Given the description of an element on the screen output the (x, y) to click on. 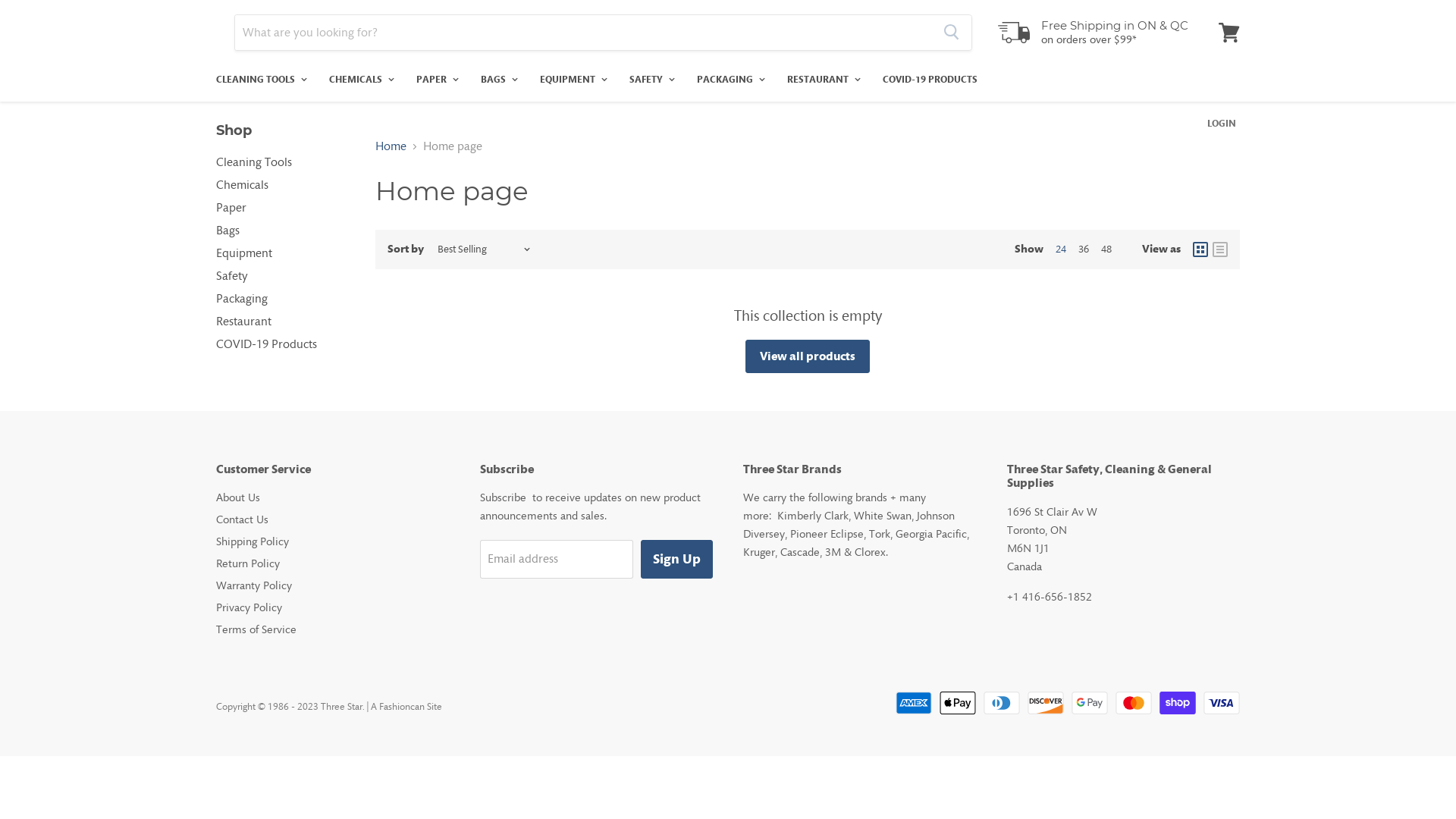
LOGIN Element type: text (1221, 123)
COVID-19 PRODUCTS Element type: text (929, 79)
Equipment Element type: text (244, 252)
48 Element type: text (1106, 248)
PACKAGING Element type: text (728, 79)
24 Element type: text (1060, 248)
RESTAURANT Element type: text (821, 79)
CLEANING TOOLS Element type: text (259, 79)
View all products Element type: text (807, 356)
Contact Us Element type: text (242, 519)
Cleaning Tools Element type: text (253, 161)
COVID-19 Products Element type: text (266, 343)
Packaging Element type: text (241, 298)
PAPER Element type: text (435, 79)
Warranty Policy Element type: text (253, 585)
Paper Element type: text (231, 207)
CHEMICALS Element type: text (359, 79)
Privacy Policy Element type: text (249, 607)
About Us Element type: text (238, 497)
Return Policy Element type: text (247, 563)
A Fashioncan Site Element type: text (406, 706)
SAFETY Element type: text (650, 79)
Bags Element type: text (227, 229)
EQUIPMENT Element type: text (571, 79)
Safety Element type: text (231, 275)
View cart Element type: text (1229, 32)
Terms of Service Element type: text (256, 629)
Sign Up Element type: text (676, 558)
36 Element type: text (1083, 248)
BAGS Element type: text (497, 79)
Chemicals Element type: text (242, 184)
Home Element type: text (390, 146)
Restaurant Element type: text (243, 320)
Shipping Policy Element type: text (252, 541)
